Given the description of an element on the screen output the (x, y) to click on. 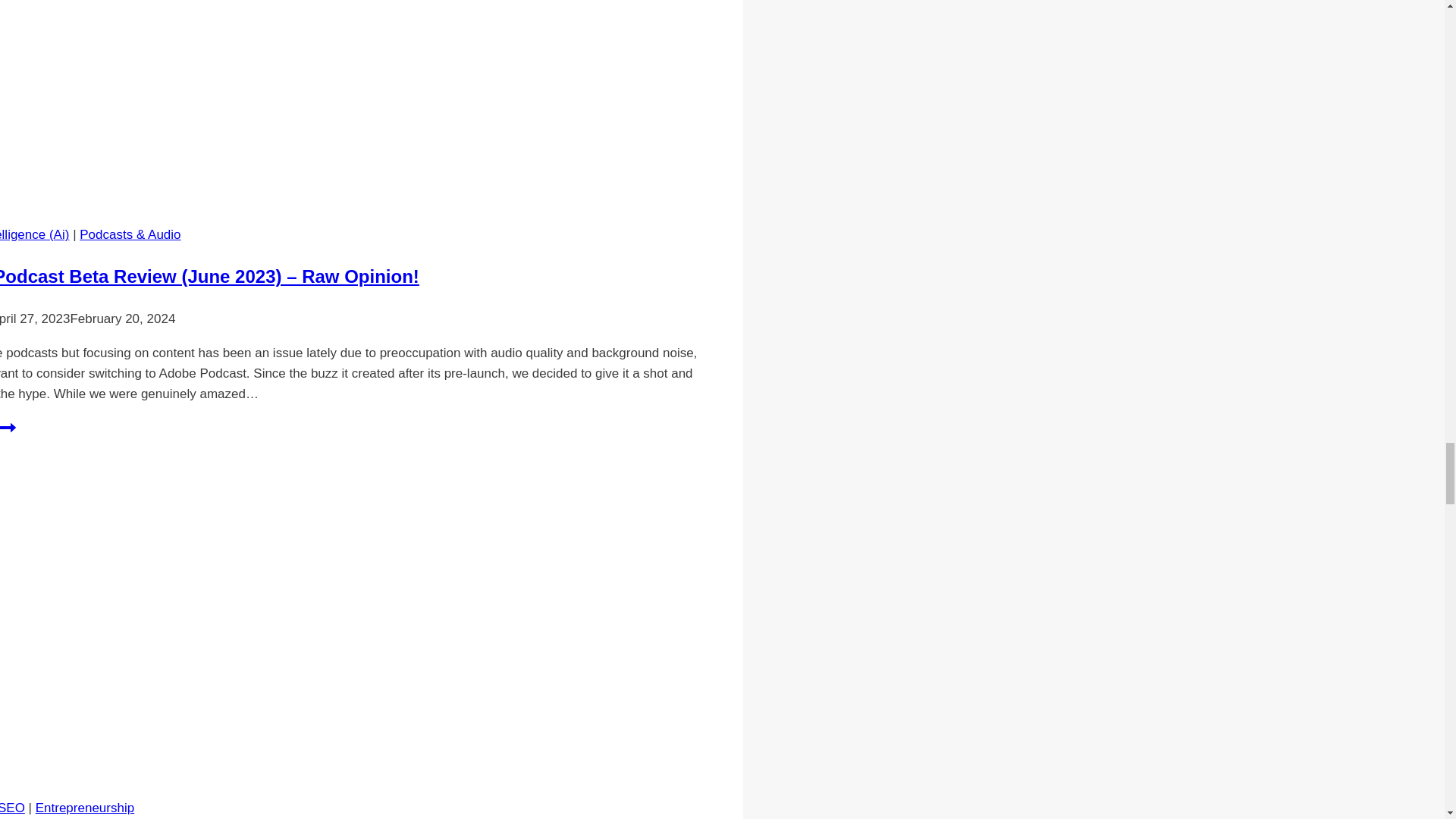
Continue (8, 427)
